Given the description of an element on the screen output the (x, y) to click on. 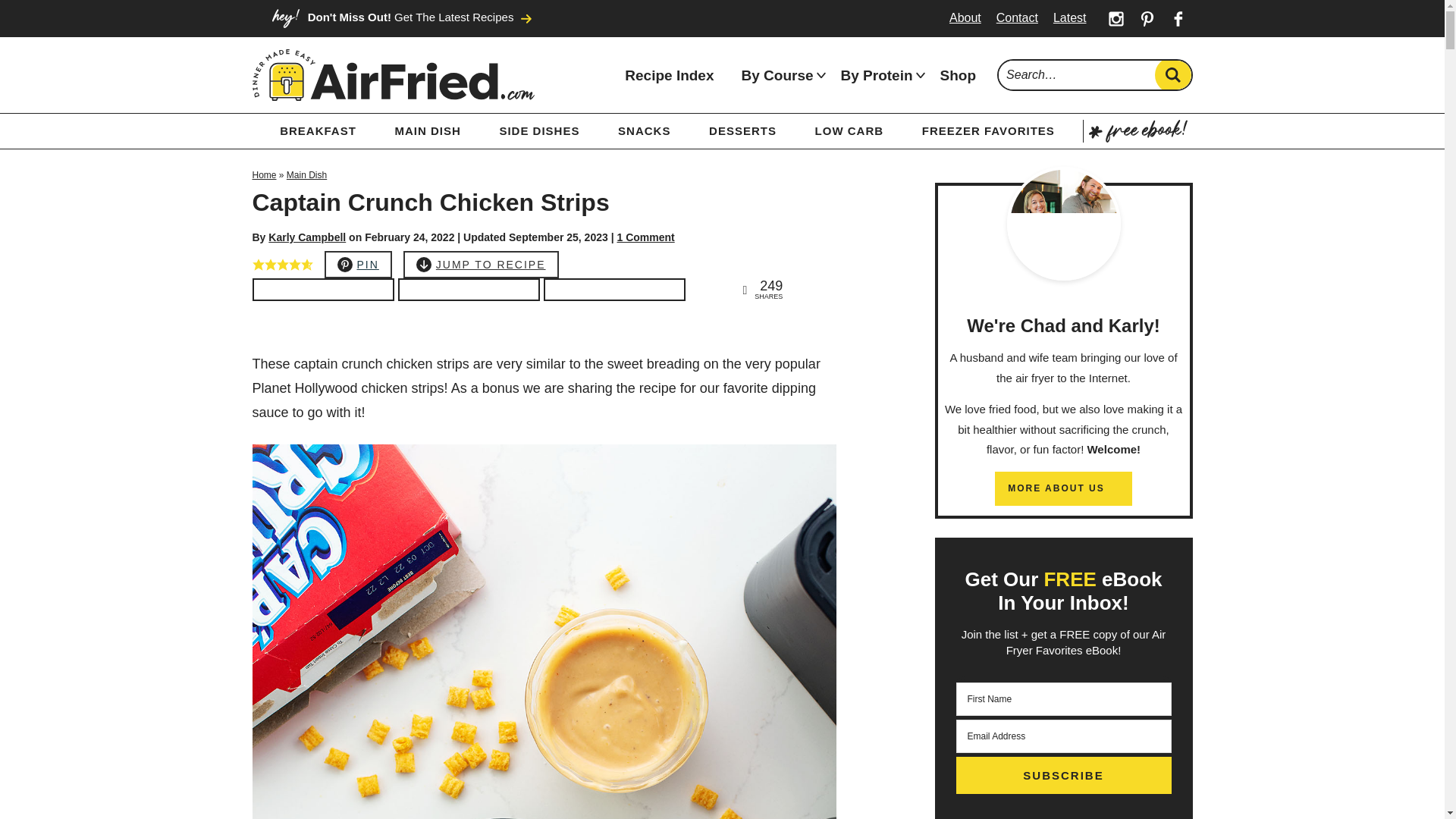
AIRFRIED.COM (392, 75)
JUMP TO RECIPE (481, 264)
About (965, 17)
Latest (1069, 17)
Contact (1016, 17)
Recipe Index (668, 75)
Search for (1094, 74)
By Protein (876, 75)
By Course (777, 75)
Don't Miss Out! Get The Latest Recipes (399, 18)
Shop (958, 75)
